Given the description of an element on the screen output the (x, y) to click on. 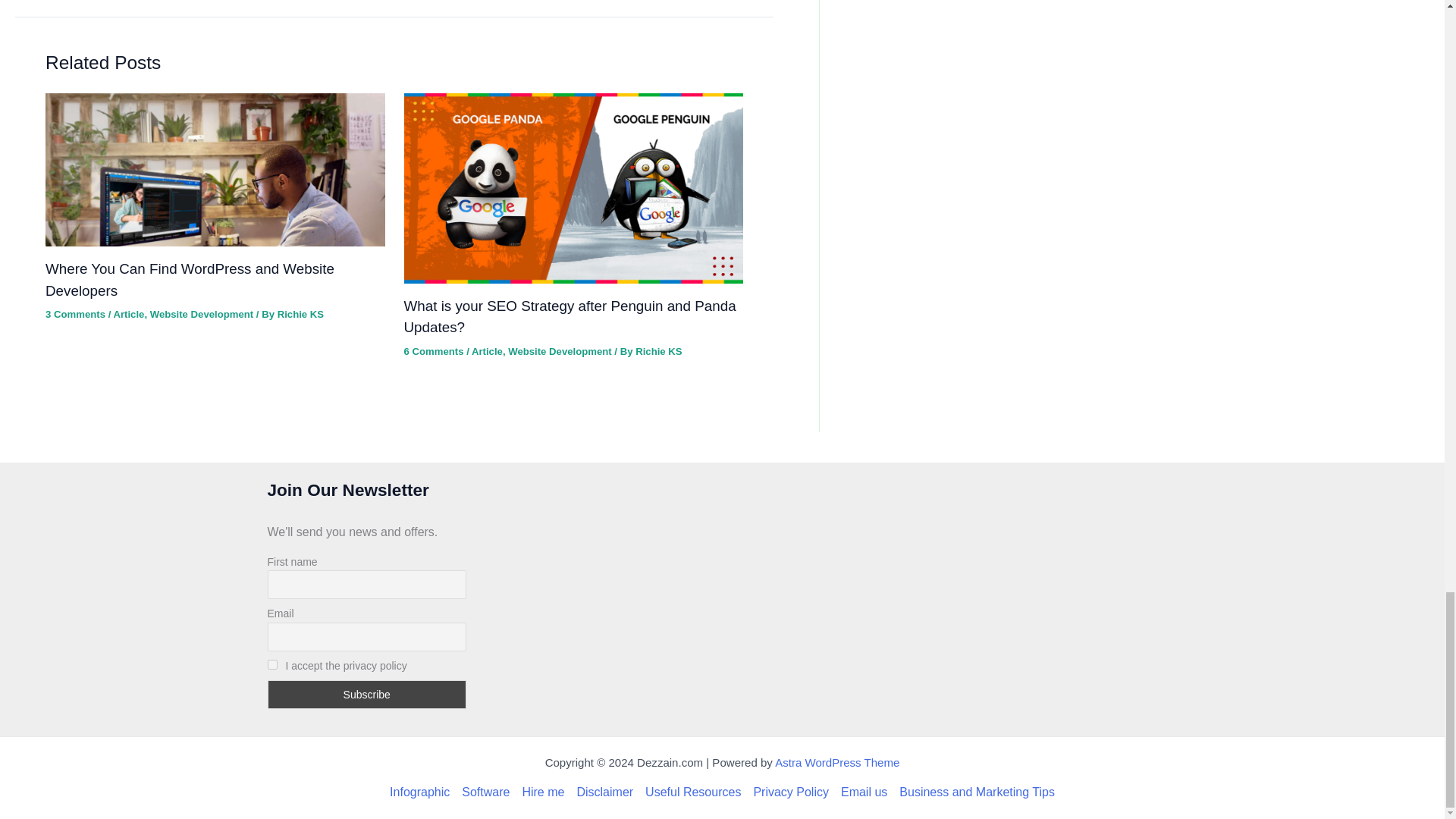
Where You Can Find WordPress and Website Developers (189, 279)
on (271, 664)
Read our privacy policy terms (790, 792)
View all posts by Richie KS (657, 351)
Subscribe (365, 694)
Hire Richie for Custom Work (542, 792)
View all posts by Richie KS (300, 314)
